Given the description of an element on the screen output the (x, y) to click on. 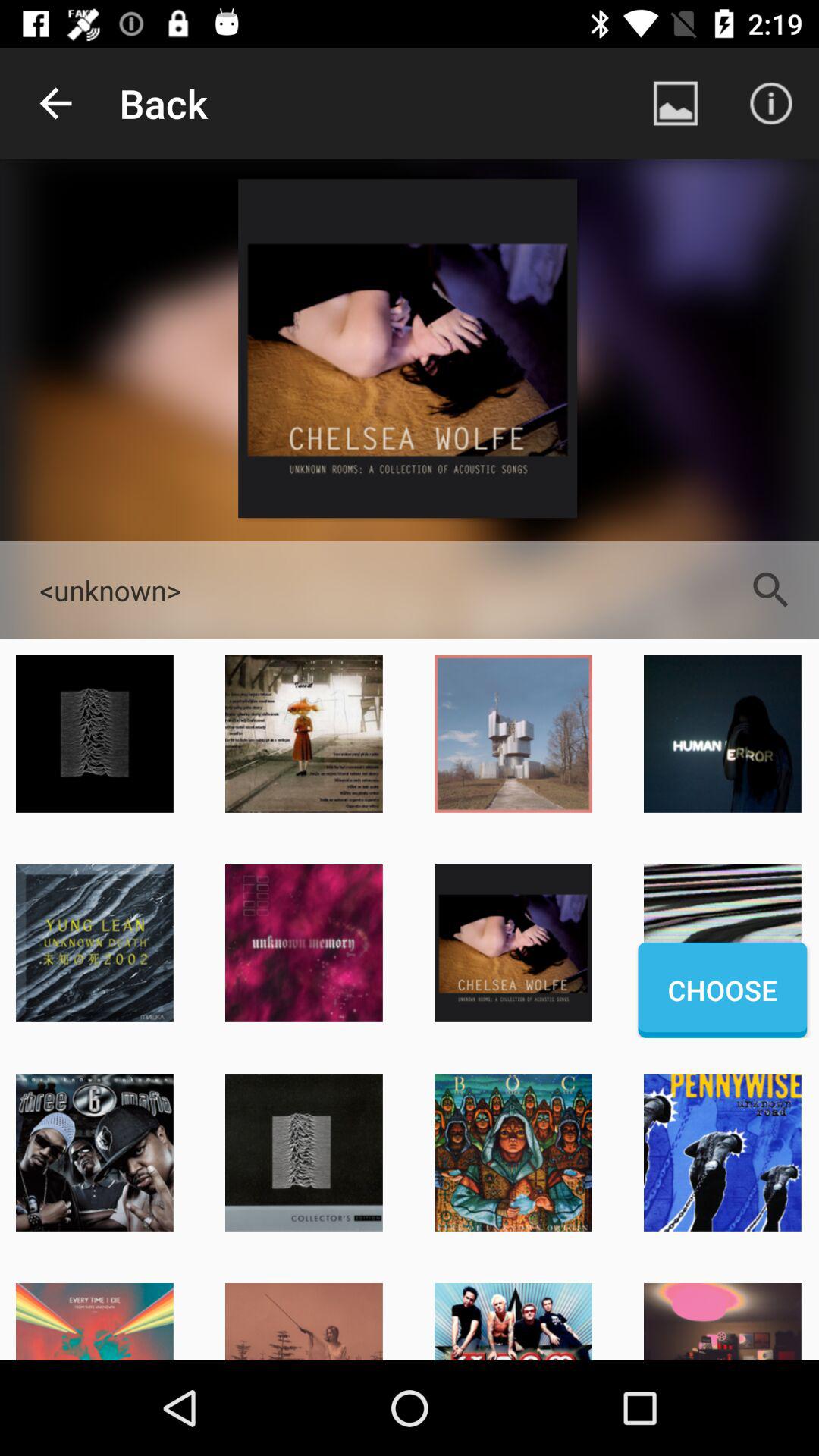
open app to the right of back icon (675, 103)
